Given the description of an element on the screen output the (x, y) to click on. 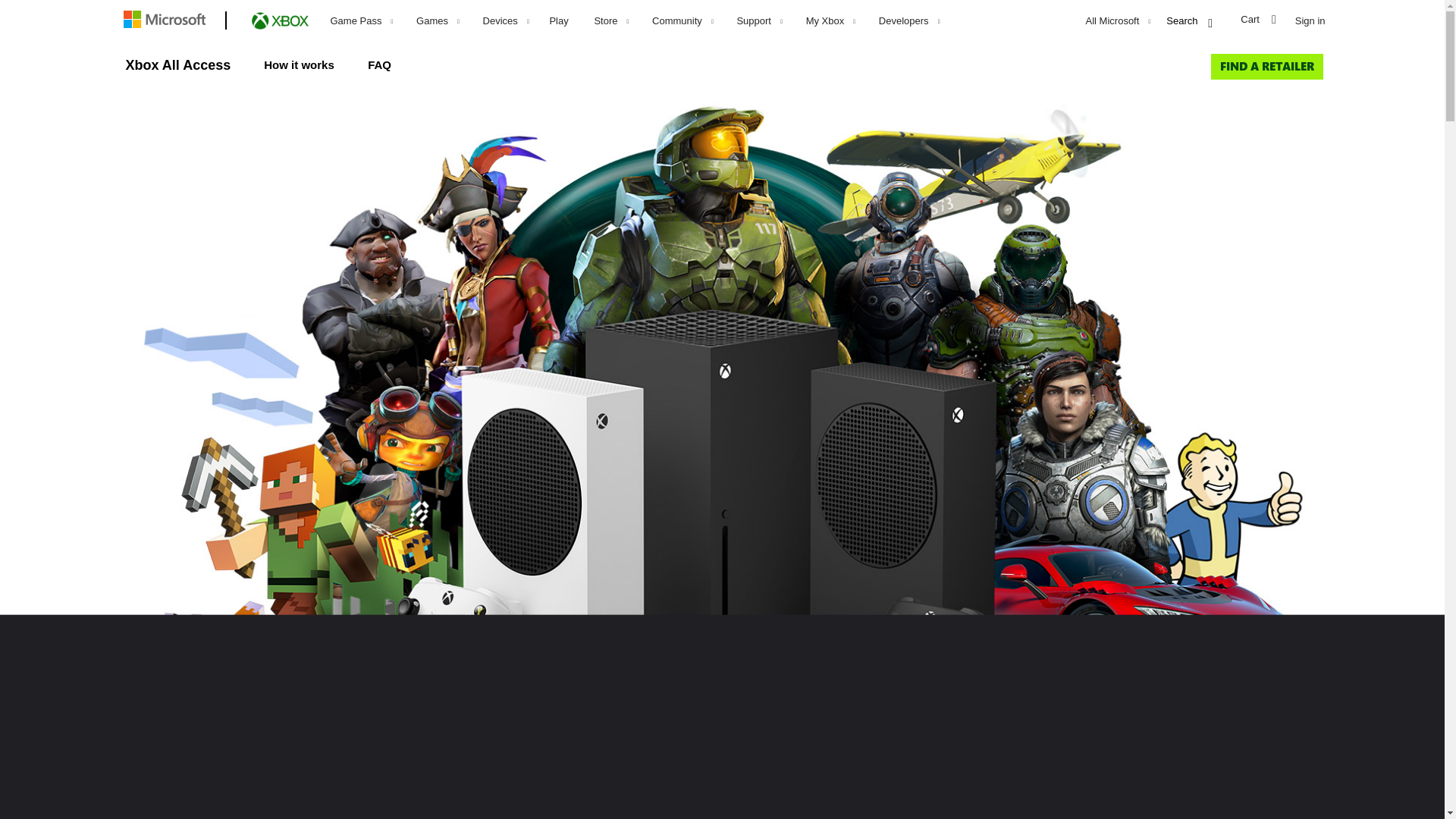
Microsoft (167, 20)
Games (437, 20)
Game Pass (360, 20)
Devices (505, 20)
